Given the description of an element on the screen output the (x, y) to click on. 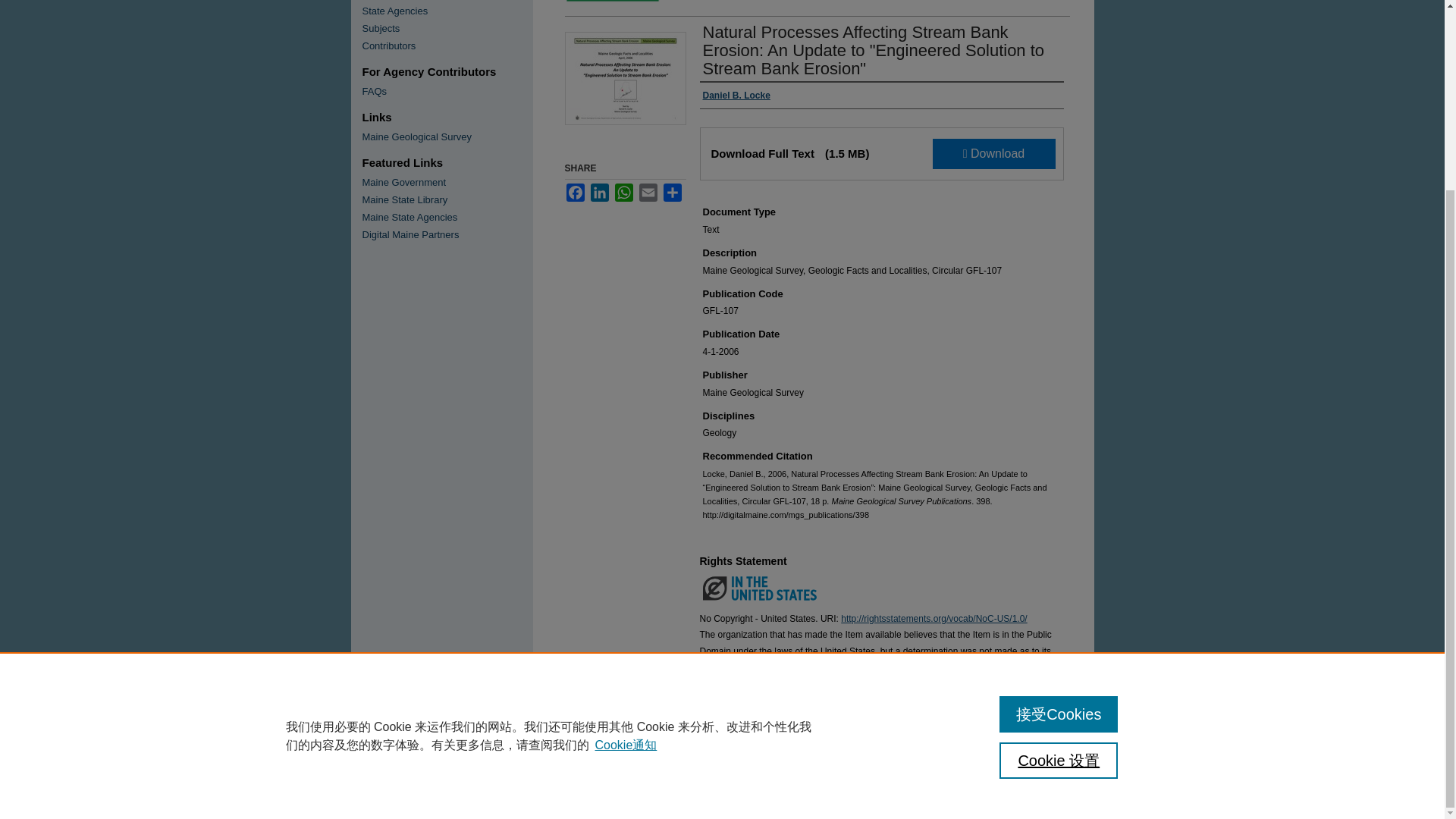
Daniel B. Locke (735, 95)
Browse by Subjects (447, 28)
LinkedIn (599, 192)
State Agencies (447, 10)
Email (647, 192)
Download (994, 153)
Facebook (574, 192)
Browse by State Agencies (447, 10)
WhatsApp (622, 192)
Subjects (447, 28)
